Given the description of an element on the screen output the (x, y) to click on. 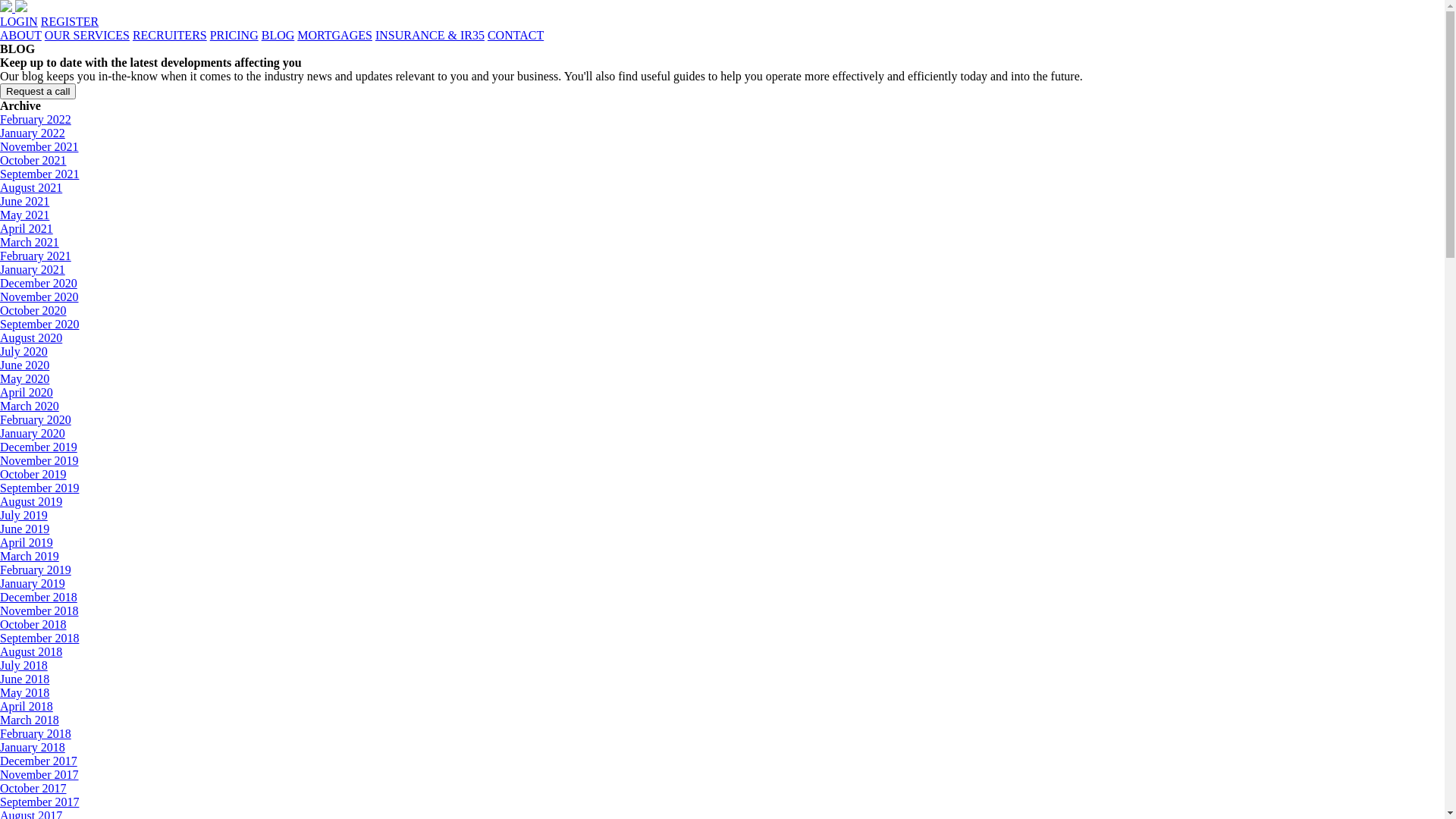
June 2018 Element type: text (24, 678)
REGISTER Element type: text (69, 21)
May 2021 Element type: text (24, 214)
July 2018 Element type: text (23, 664)
May 2020 Element type: text (24, 378)
February 2018 Element type: text (35, 733)
July 2020 Element type: text (23, 351)
April 2018 Element type: text (26, 705)
March 2020 Element type: text (29, 405)
March 2019 Element type: text (29, 555)
OUR SERVICES Element type: text (86, 34)
December 2020 Element type: text (38, 282)
April 2021 Element type: text (26, 228)
December 2019 Element type: text (38, 446)
September 2019 Element type: text (39, 487)
January 2021 Element type: text (32, 269)
October 2020 Element type: text (33, 310)
August 2021 Element type: text (31, 187)
July 2019 Element type: text (23, 514)
March 2021 Element type: text (29, 241)
June 2019 Element type: text (24, 528)
September 2020 Element type: text (39, 323)
August 2020 Element type: text (31, 337)
October 2017 Element type: text (33, 787)
MORTGAGES Element type: text (334, 34)
April 2019 Element type: text (26, 542)
September 2021 Element type: text (39, 173)
January 2018 Element type: text (32, 746)
January 2019 Element type: text (32, 583)
June 2020 Element type: text (24, 364)
March 2018 Element type: text (29, 719)
October 2019 Element type: text (33, 473)
February 2021 Element type: text (35, 255)
December 2018 Element type: text (38, 596)
November 2018 Element type: text (39, 610)
November 2017 Element type: text (39, 774)
February 2020 Element type: text (35, 419)
INSURANCE & IR35 Element type: text (429, 34)
ABOUT Element type: text (20, 34)
October 2021 Element type: text (33, 159)
RECRUITERS Element type: text (169, 34)
September 2018 Element type: text (39, 637)
August 2019 Element type: text (31, 501)
BLOG Element type: text (277, 34)
LOGIN Element type: text (18, 21)
November 2019 Element type: text (39, 460)
April 2020 Element type: text (26, 391)
January 2022 Element type: text (32, 132)
November 2020 Element type: text (39, 296)
January 2020 Element type: text (32, 432)
Request a call Element type: text (37, 91)
PRICING Element type: text (234, 34)
August 2018 Element type: text (31, 651)
October 2018 Element type: text (33, 624)
June 2021 Element type: text (24, 200)
December 2017 Element type: text (38, 760)
September 2017 Element type: text (39, 801)
February 2022 Element type: text (35, 118)
May 2018 Element type: text (24, 692)
November 2021 Element type: text (39, 146)
February 2019 Element type: text (35, 569)
CONTACT Element type: text (515, 34)
